Given the description of an element on the screen output the (x, y) to click on. 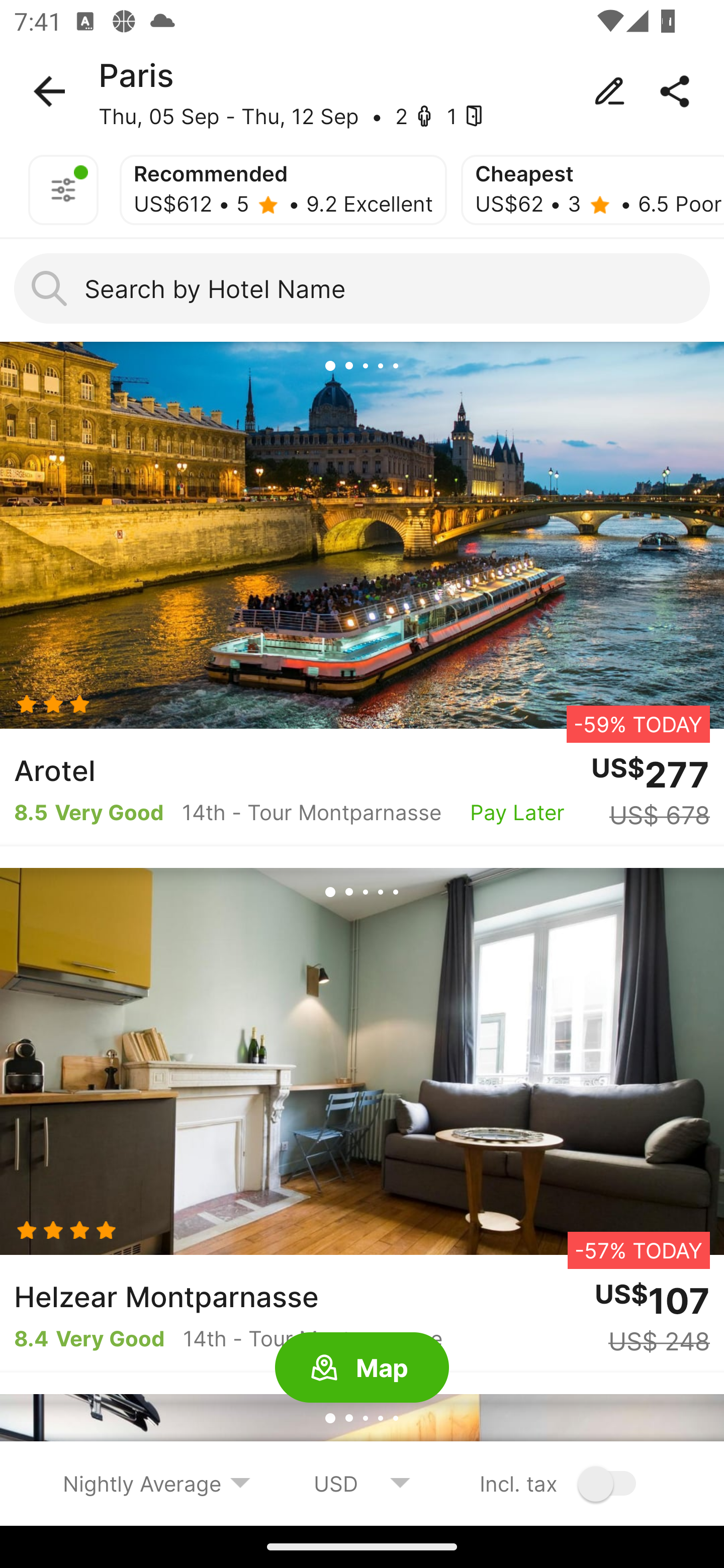
Paris Thu, 05 Sep - Thu, 12 Sep  •  2 -  1 - (361, 91)
Recommended  US$612  • 5 - • 9.2 Excellent (282, 190)
Cheapest US$62  • 3 - • 6.5 Poor (592, 190)
Search by Hotel Name  (361, 288)
Map  (361, 1367)
Nightly Average (156, 1482)
USD (361, 1482)
